Given the description of an element on the screen output the (x, y) to click on. 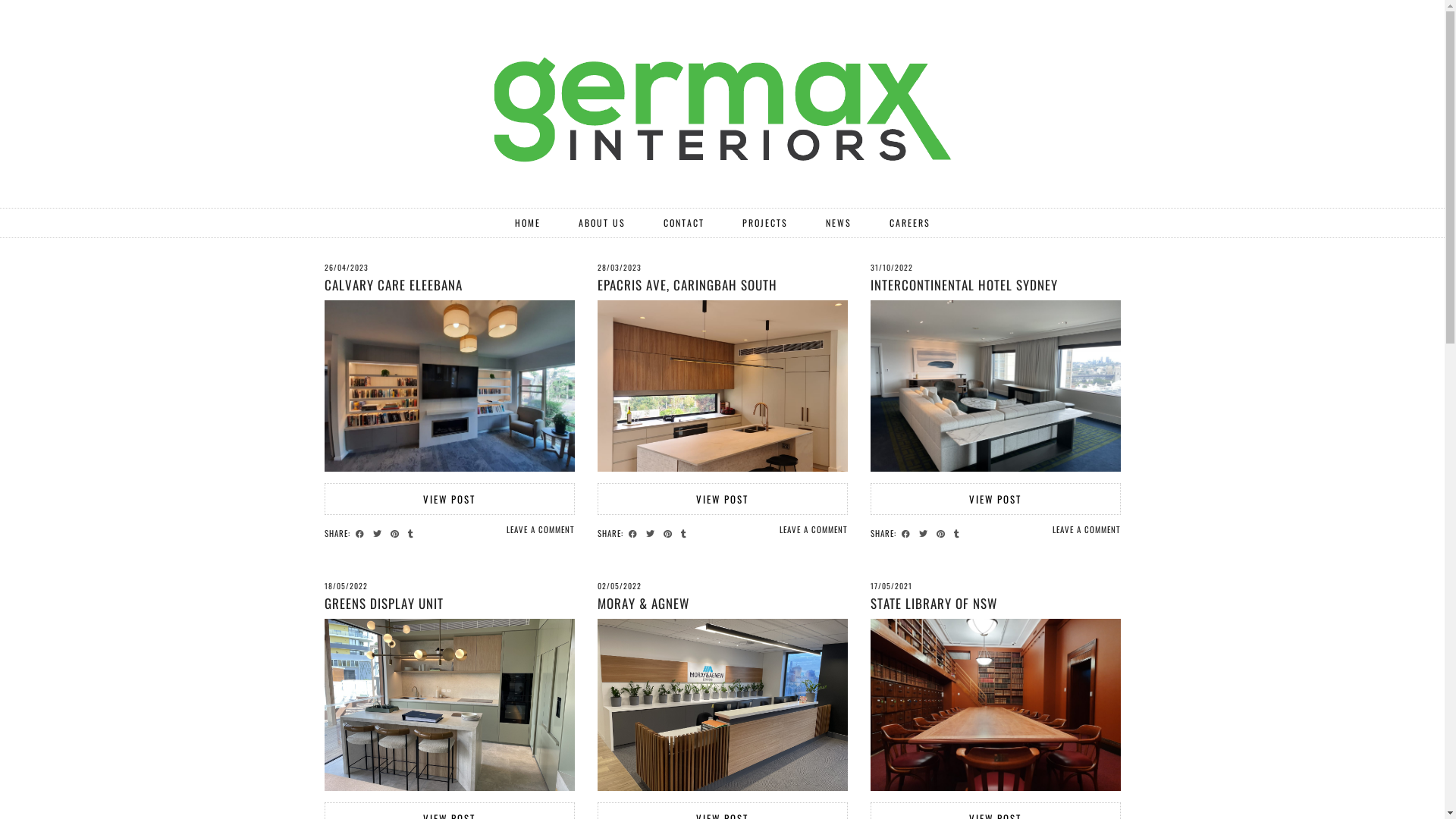
Moray & Agnew Element type: hover (722, 704)
Share on Pinterest Element type: hover (395, 532)
GREENS DISPLAY UNIT Element type: text (383, 602)
Share on tumblr Element type: hover (685, 532)
Share on Twitter Element type: hover (925, 532)
Epacris Ave, Caringbah South Element type: hover (722, 385)
INTERCONTINENTAL HOTEL SYDNEY Element type: text (963, 284)
VIEW POST Element type: text (449, 498)
HOME Element type: text (527, 222)
Share on Twitter Element type: hover (652, 532)
Share on tumblr Element type: hover (412, 532)
Share on Facebook Element type: hover (360, 532)
Share on Pinterest Element type: hover (941, 532)
Calvary Care Eleebana Element type: hover (449, 385)
Greens Display Unit Element type: hover (449, 704)
PROJECTS Element type: text (764, 222)
EPACRIS AVE, CARINGBAH SOUTH Element type: text (687, 284)
State Library of NSW Element type: hover (995, 704)
Share on Pinterest Element type: hover (668, 532)
LEAVE A COMMENT Element type: text (813, 529)
CALVARY CARE ELEEBANA Element type: text (393, 284)
Intercontinental Hotel Sydney Element type: hover (995, 385)
Share on Facebook Element type: hover (906, 532)
LEAVE A COMMENT Element type: text (540, 529)
LEAVE A COMMENT Element type: text (1086, 529)
VIEW POST Element type: text (722, 498)
CONTACT Element type: text (683, 222)
ABOUT US Element type: text (601, 222)
Share on Twitter Element type: hover (379, 532)
Share on tumblr Element type: hover (958, 532)
Share on Facebook Element type: hover (633, 532)
STATE LIBRARY OF NSW Element type: text (933, 602)
CAREERS Element type: text (909, 222)
VIEW POST Element type: text (995, 498)
Germax Interiors Pty Limited Element type: hover (722, 98)
NEWS Element type: text (838, 222)
MORAY & AGNEW Element type: text (643, 602)
